Given the description of an element on the screen output the (x, y) to click on. 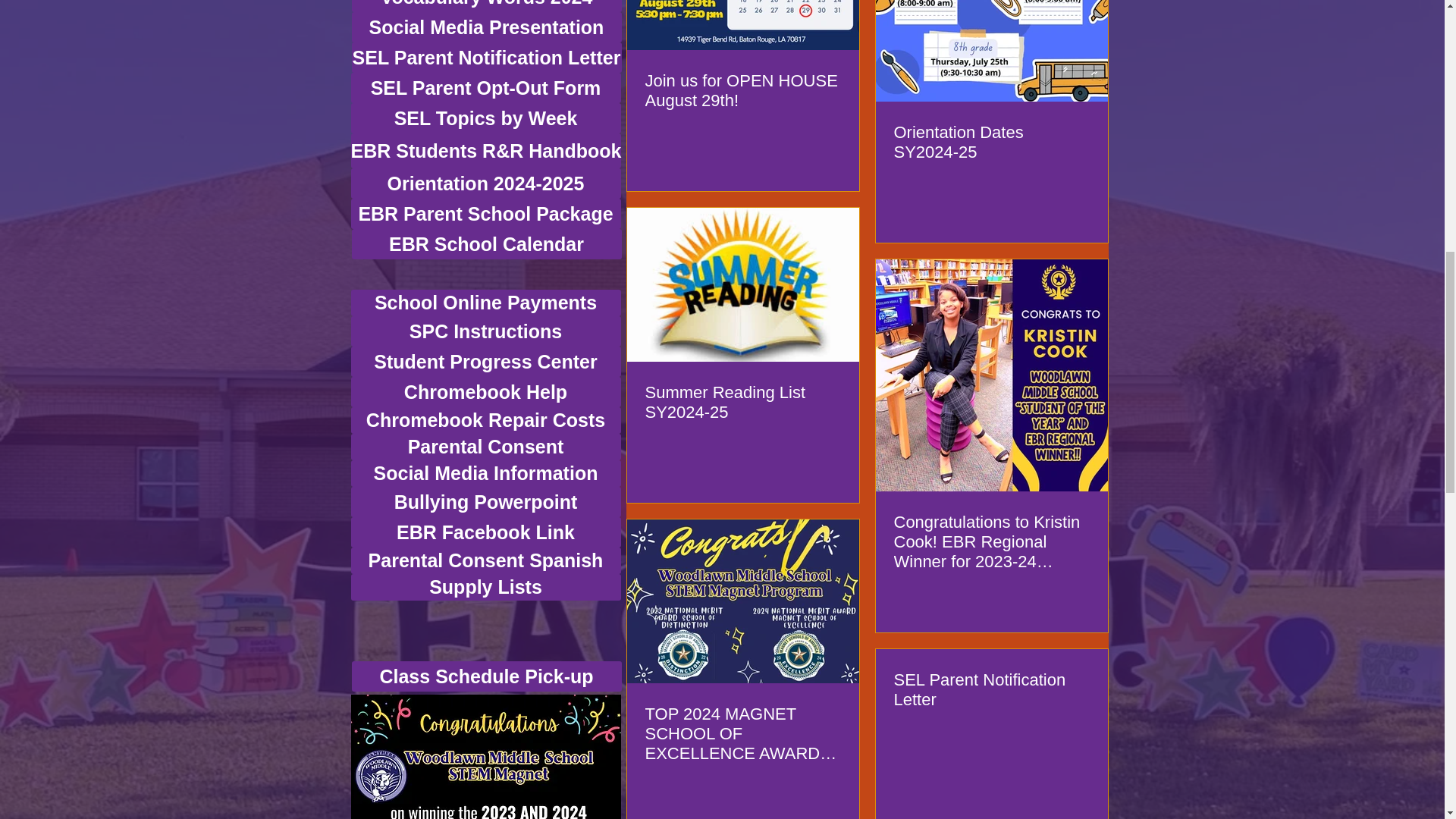
Orientation 2024-2025 (485, 183)
Vocabulary Words 2024 (486, 6)
SEL Topics by Week (485, 118)
School Online Payments (485, 302)
EBR School Calendar (486, 244)
SEL Parent Opt-Out Form (485, 87)
SEL Parent Notification Letter (486, 57)
EBR Parent School Package (485, 214)
Social Media Presentation (486, 27)
